Given the description of an element on the screen output the (x, y) to click on. 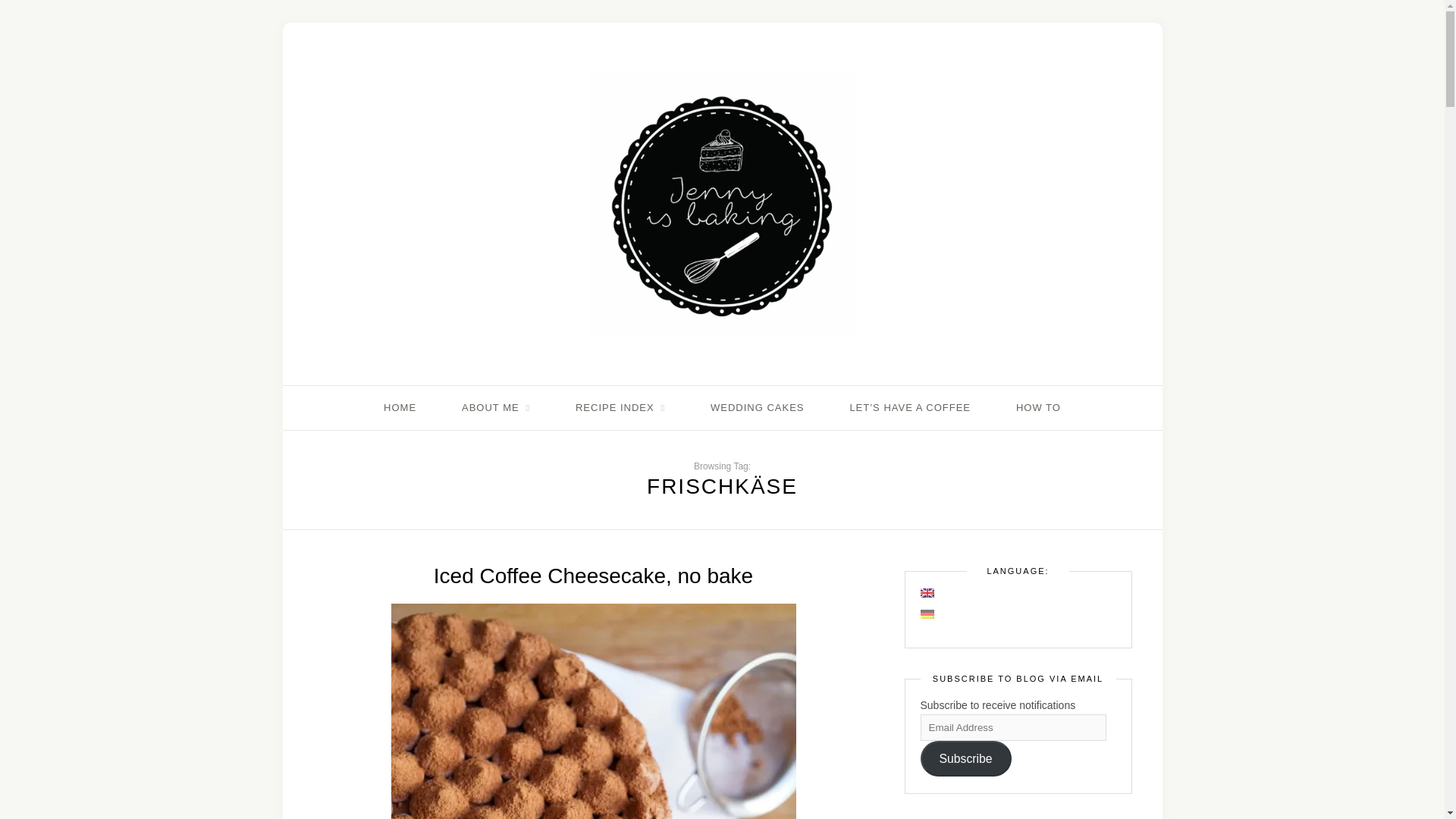
Iced Coffee Cheesecake, no bake (592, 576)
ABOUT ME (495, 407)
RECIPE INDEX (620, 407)
WEDDING CAKES (757, 407)
HOW TO (1038, 407)
